Given the description of an element on the screen output the (x, y) to click on. 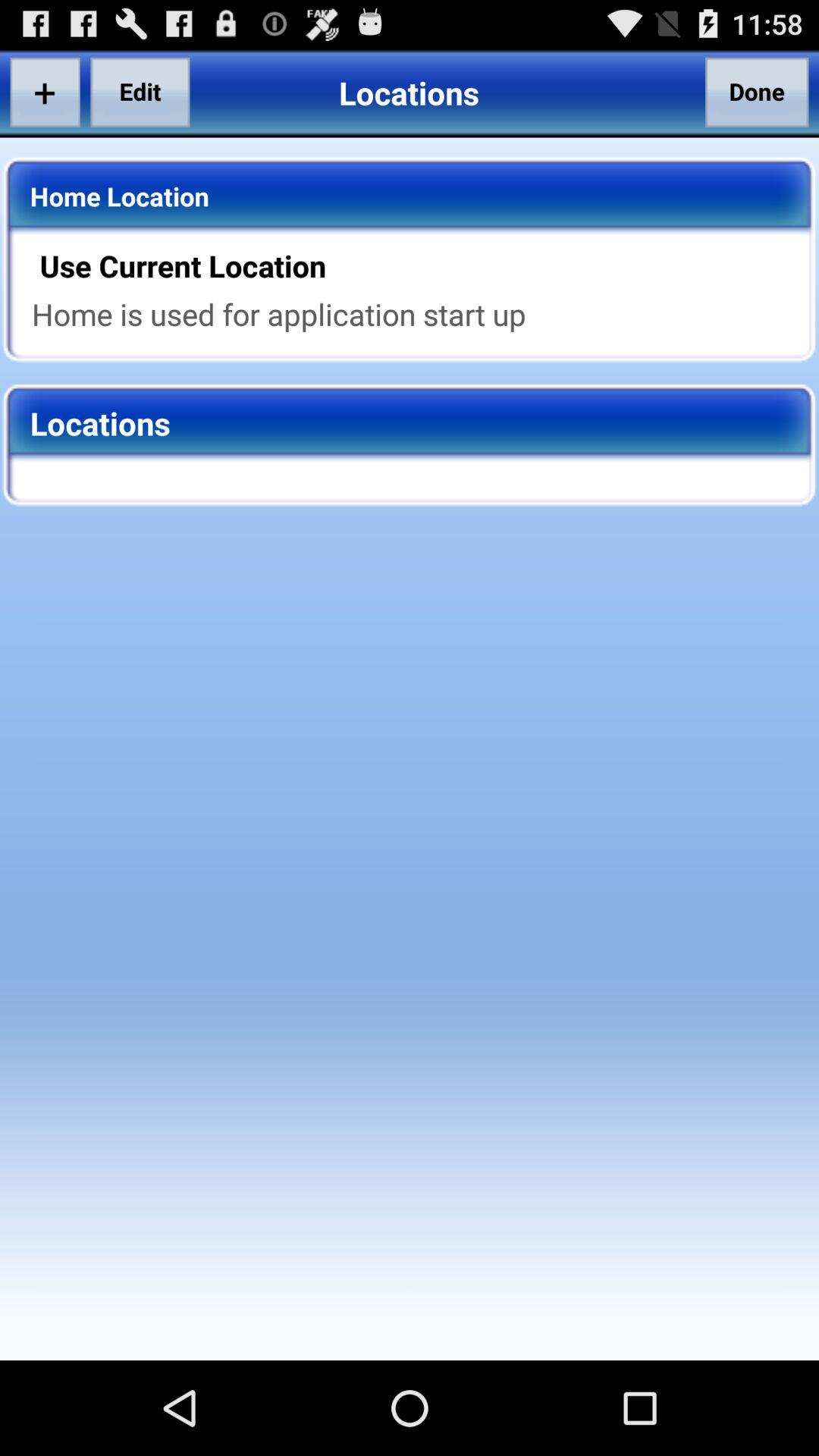
press the item above home location app (139, 92)
